Given the description of an element on the screen output the (x, y) to click on. 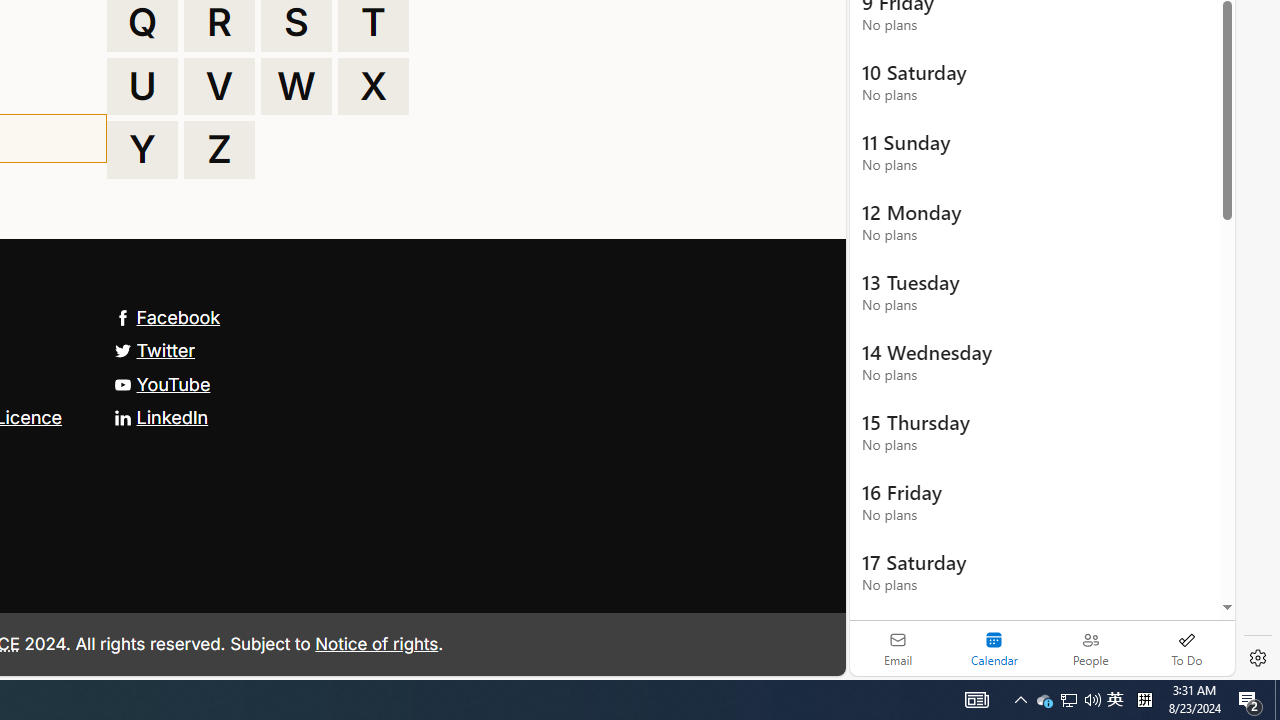
To Do (1186, 648)
Z (219, 149)
People (1090, 648)
Twitter (154, 350)
YouTube (162, 383)
U (142, 85)
Notice of rights (376, 642)
Email (898, 648)
W (296, 85)
